Given the description of an element on the screen output the (x, y) to click on. 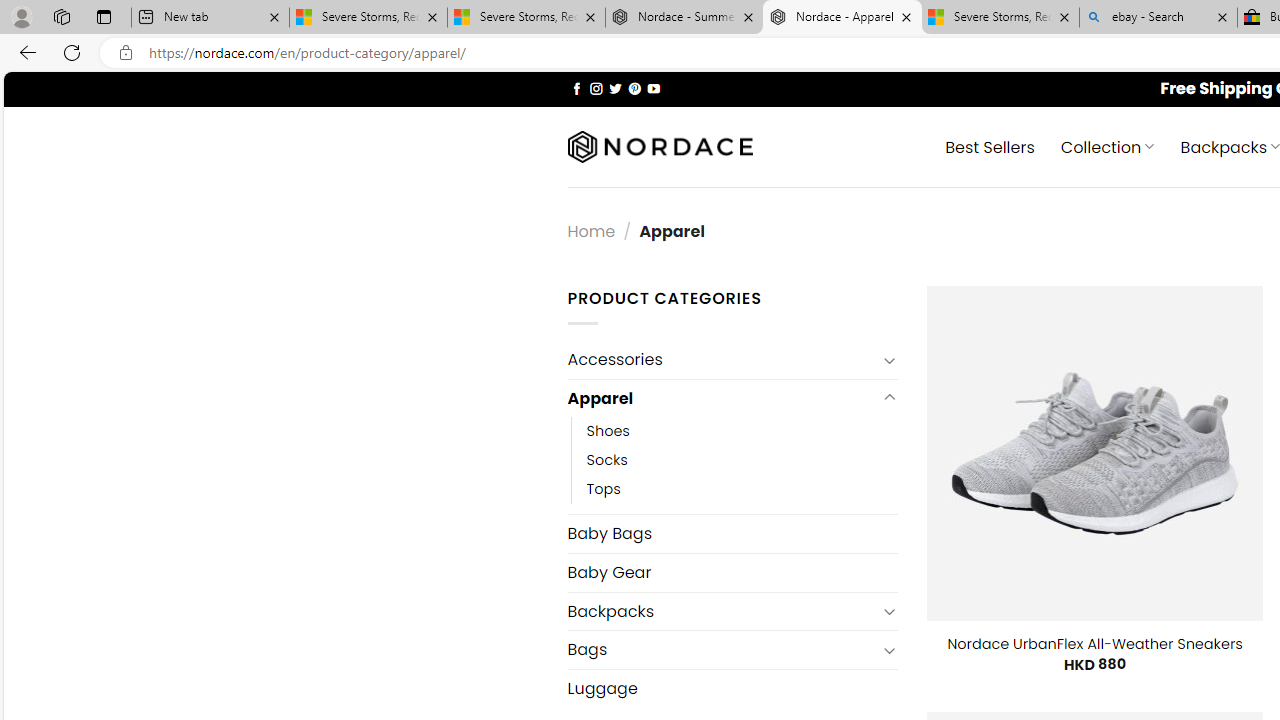
Nordace UrbanFlex All-Weather Sneakers (1094, 643)
 Best Sellers (989, 146)
Shoes (742, 431)
